Given the description of an element on the screen output the (x, y) to click on. 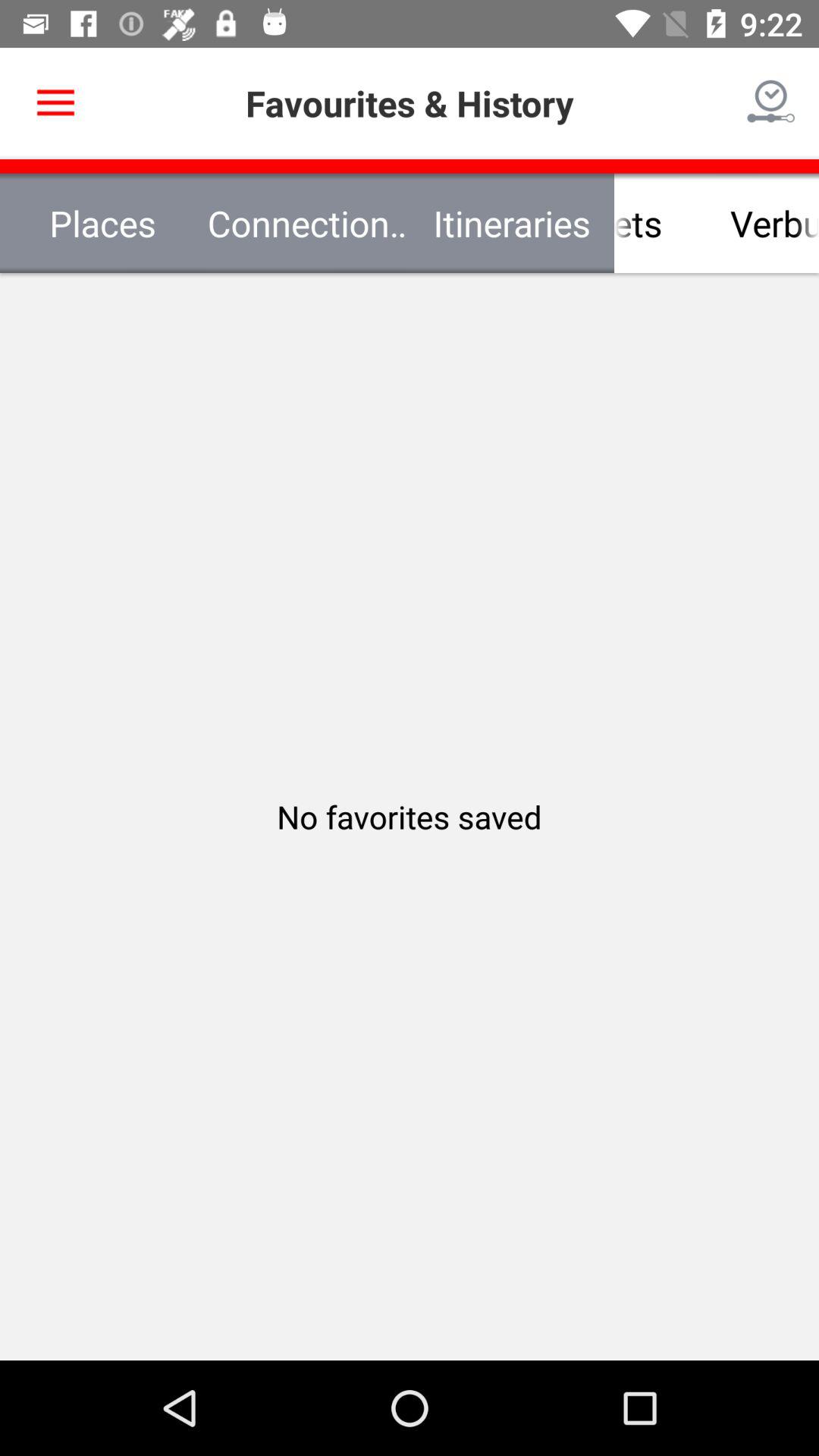
turn off item to the left of connection requests item (55, 103)
